Given the description of an element on the screen output the (x, y) to click on. 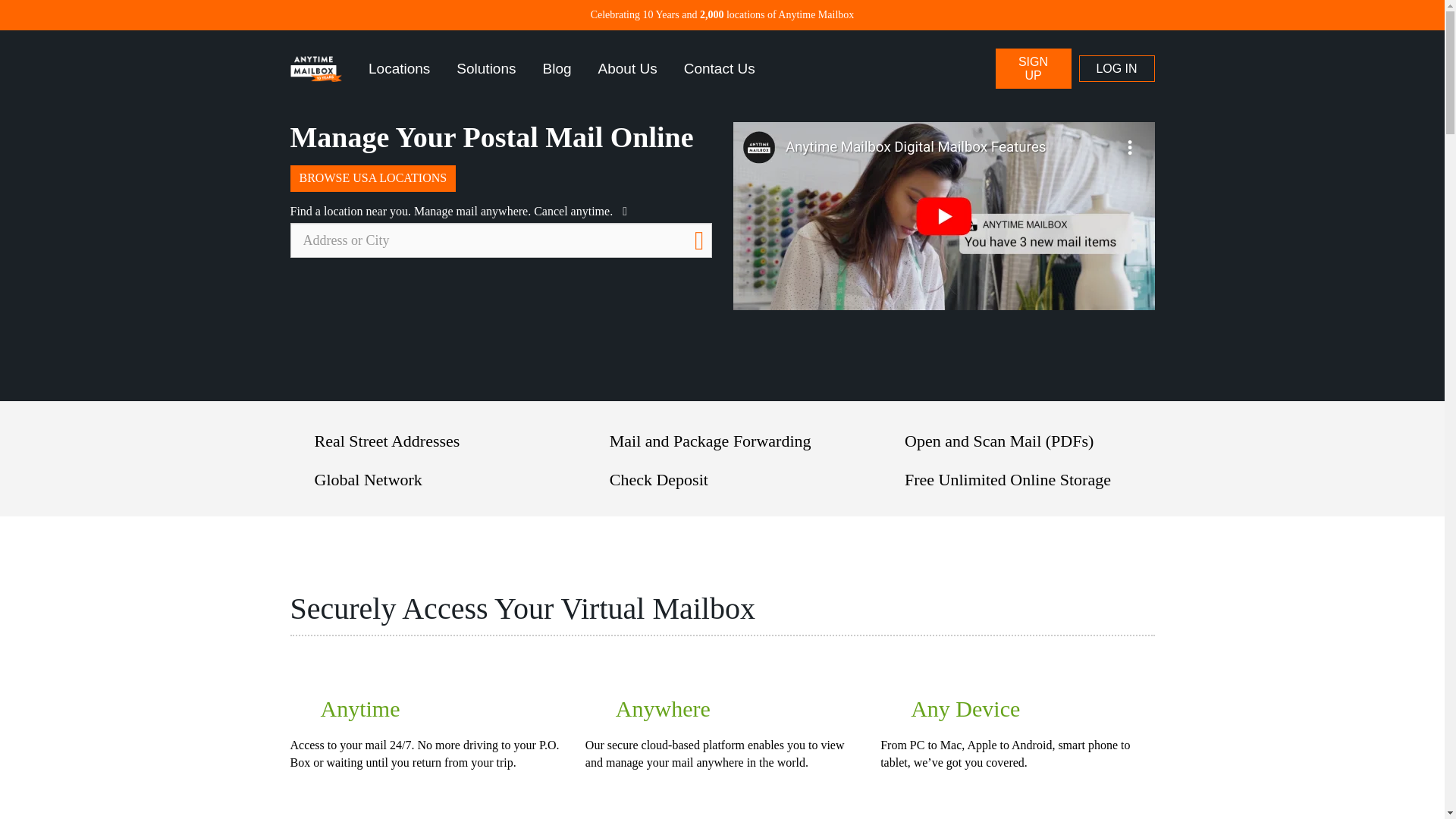
Anytime Mailbox (314, 68)
